Given the description of an element on the screen output the (x, y) to click on. 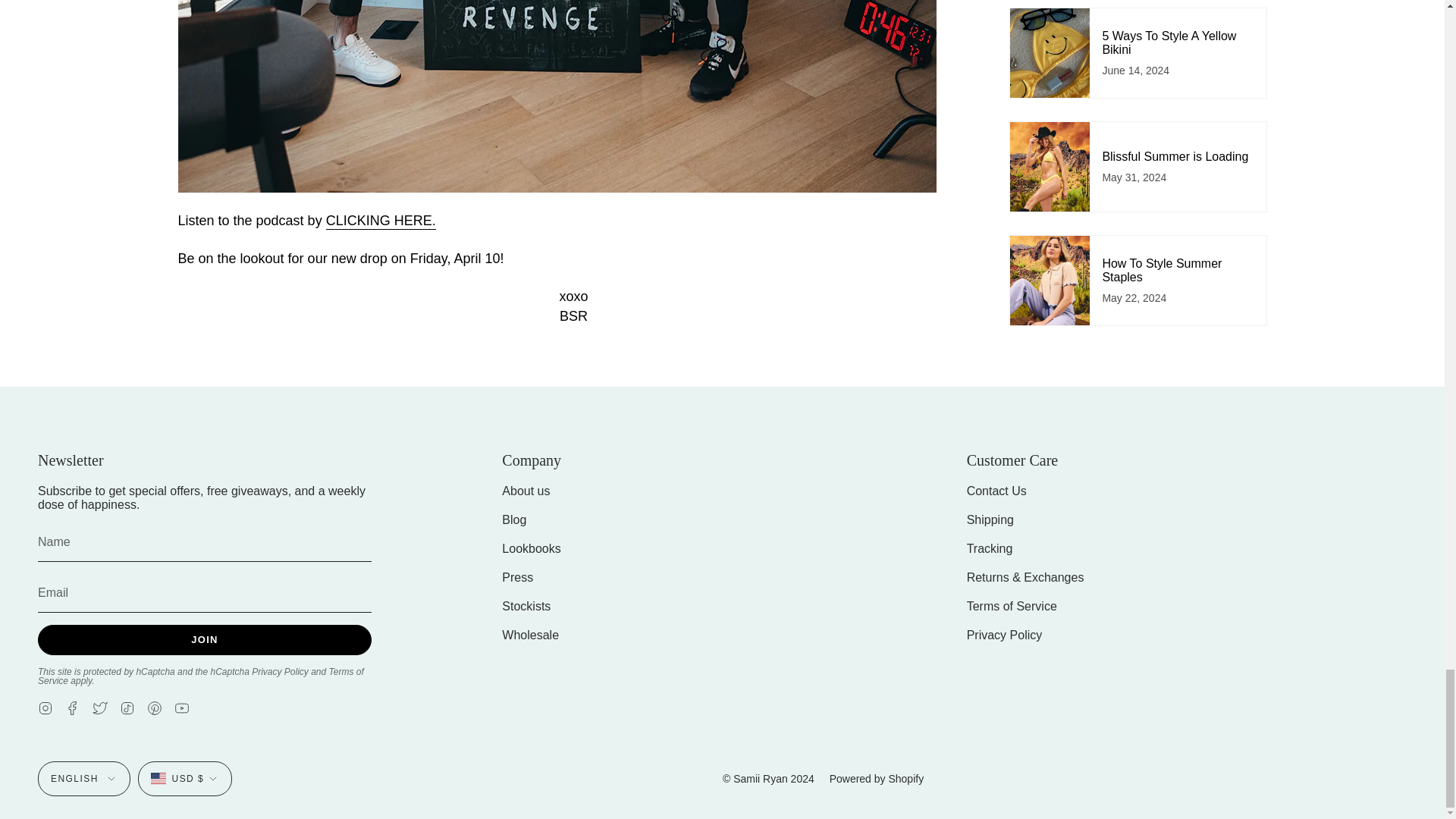
Samii Ryan  on Facebook (72, 707)
Samii Ryan  on Pinterest (154, 707)
Samii Ryan  on Instagram (44, 707)
Samii Ryan  on Twitter (100, 707)
Samii Ryan  on YouTube (181, 707)
Samii Ryan  on TikTok (127, 707)
